Given the description of an element on the screen output the (x, y) to click on. 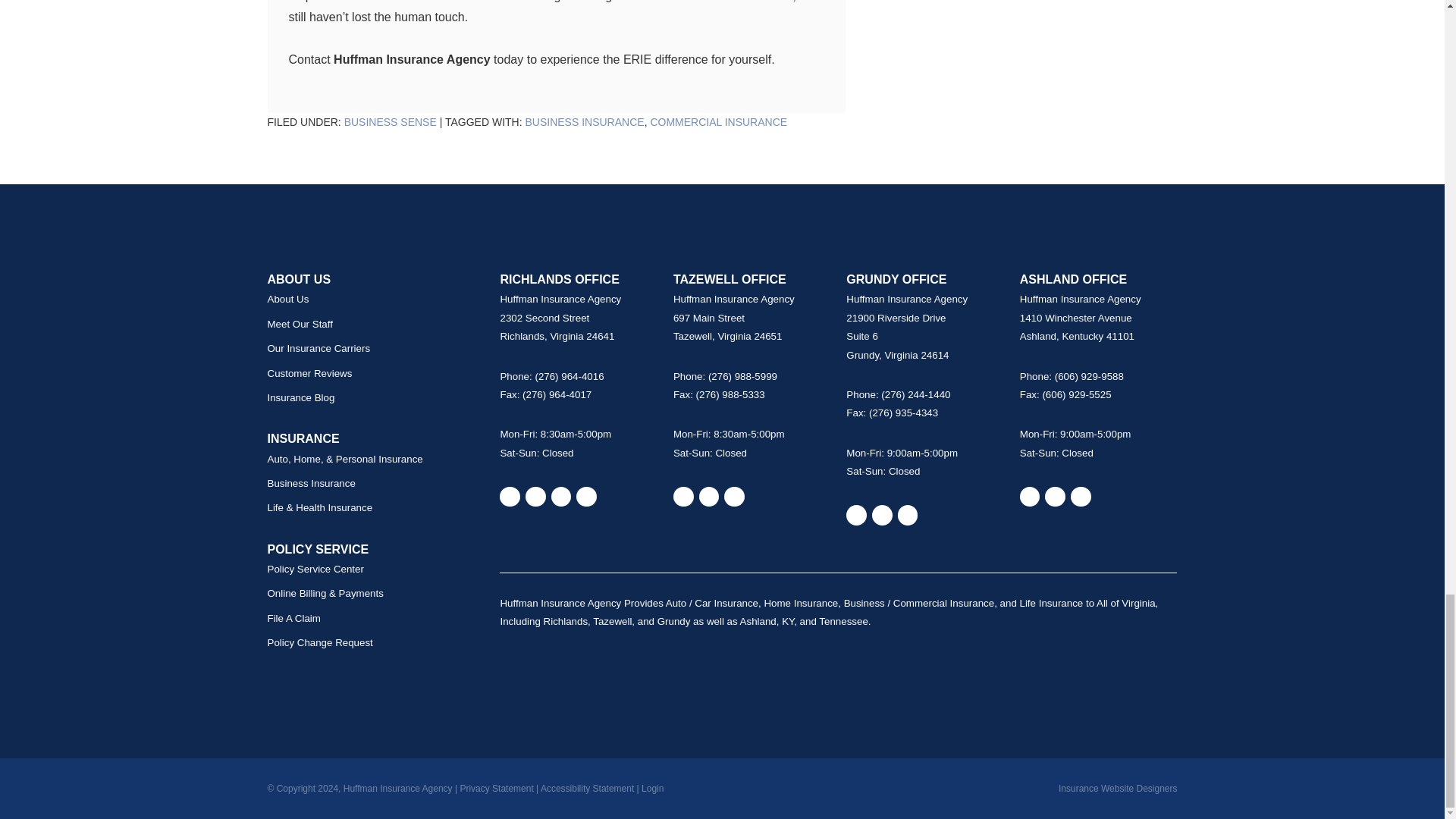
Business Insurance (583, 121)
Facebook (1055, 496)
Commercial Insurance (718, 121)
Yelp (535, 496)
LinkedIn (908, 515)
LinkedIn (733, 496)
Google Maps (683, 496)
Google Maps (1030, 496)
Facebook (561, 496)
Google Maps (855, 515)
Business Sense (389, 121)
LinkedIn (1080, 496)
Facebook (882, 515)
Facebook (708, 496)
LinkedIn (586, 496)
